Given the description of an element on the screen output the (x, y) to click on. 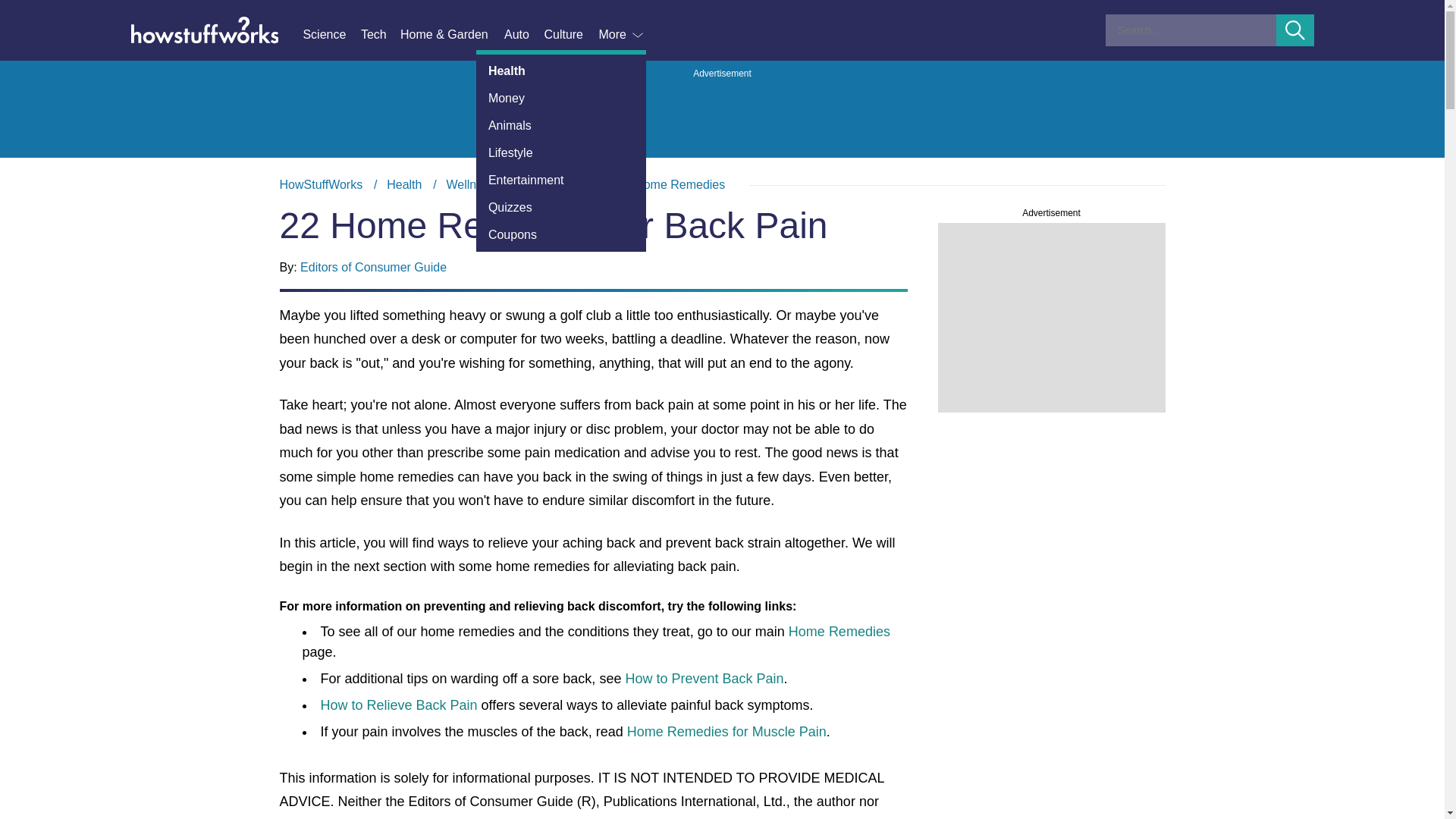
Health (404, 184)
Health (561, 71)
Science (330, 34)
Entertainment (561, 180)
Auto (523, 34)
Money (561, 98)
Culture (570, 34)
Natural Medicine (564, 184)
Coupons (561, 234)
Wellness (470, 184)
